Given the description of an element on the screen output the (x, y) to click on. 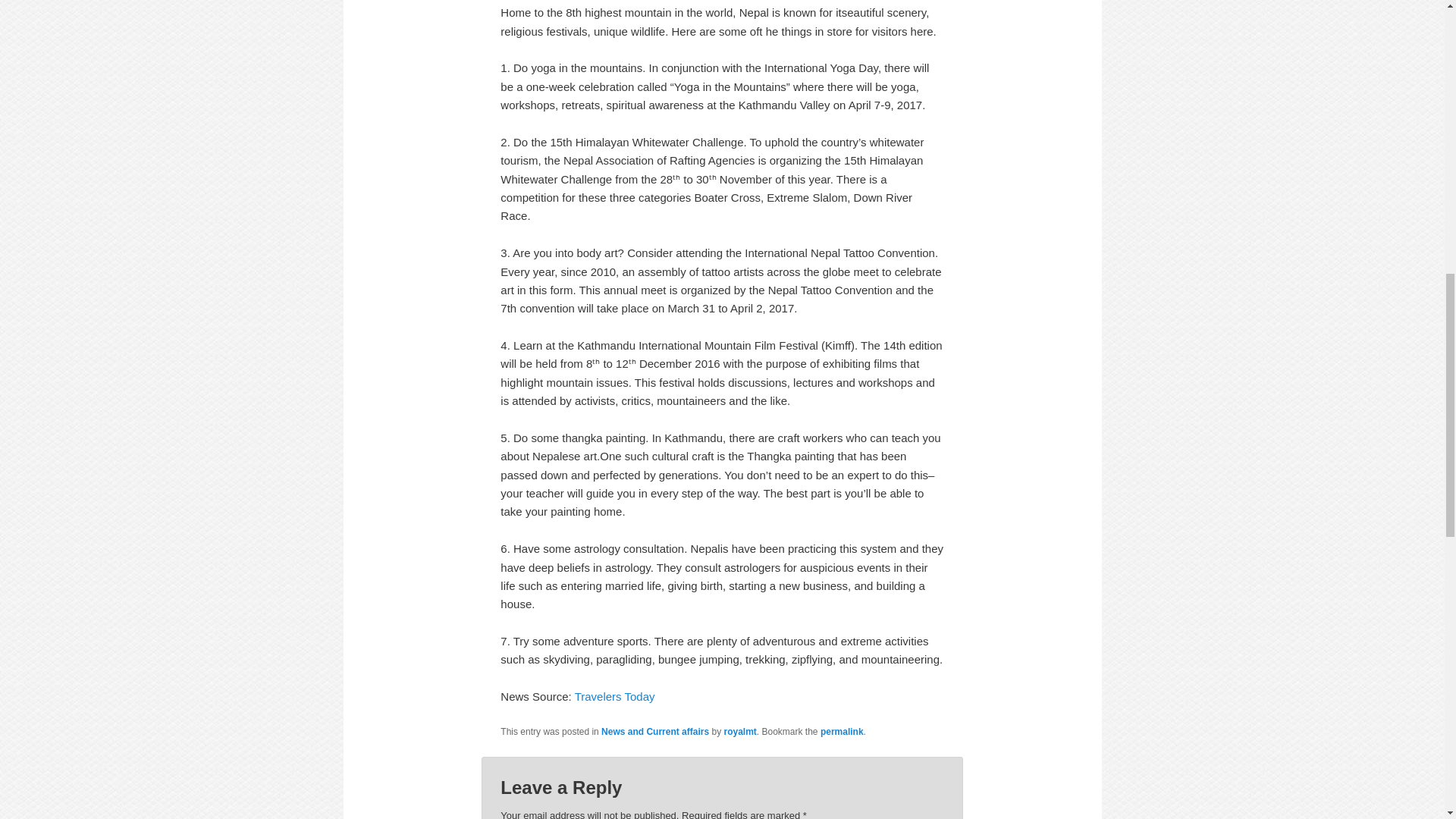
royalmt (739, 731)
Travelers Today (615, 696)
permalink (842, 731)
Permalink to Travel Tips: Things To Discover In Nepal (842, 731)
News and Current affairs (655, 731)
